Given the description of an element on the screen output the (x, y) to click on. 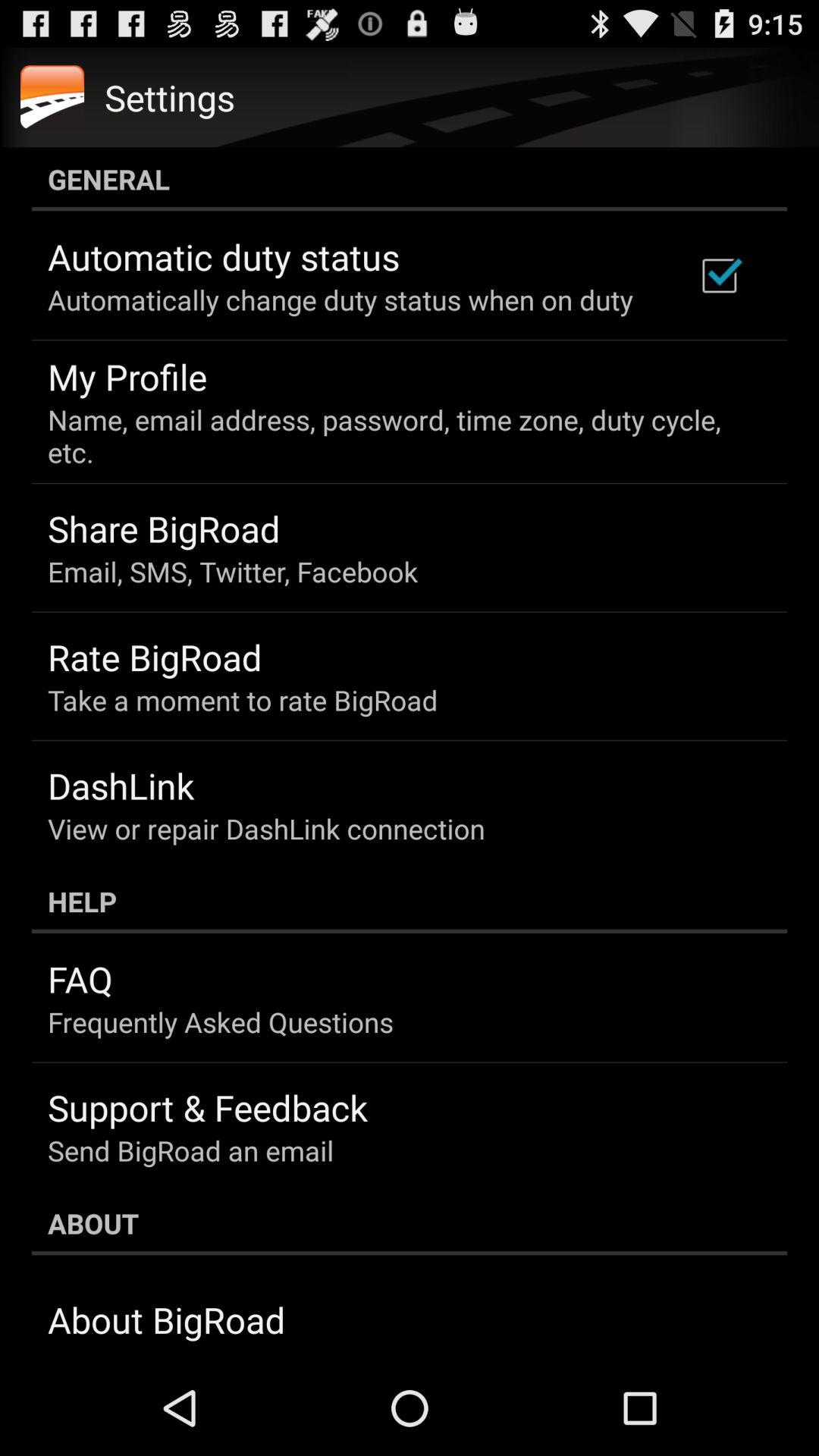
tap icon to the right of the automatically change duty app (719, 275)
